Given the description of an element on the screen output the (x, y) to click on. 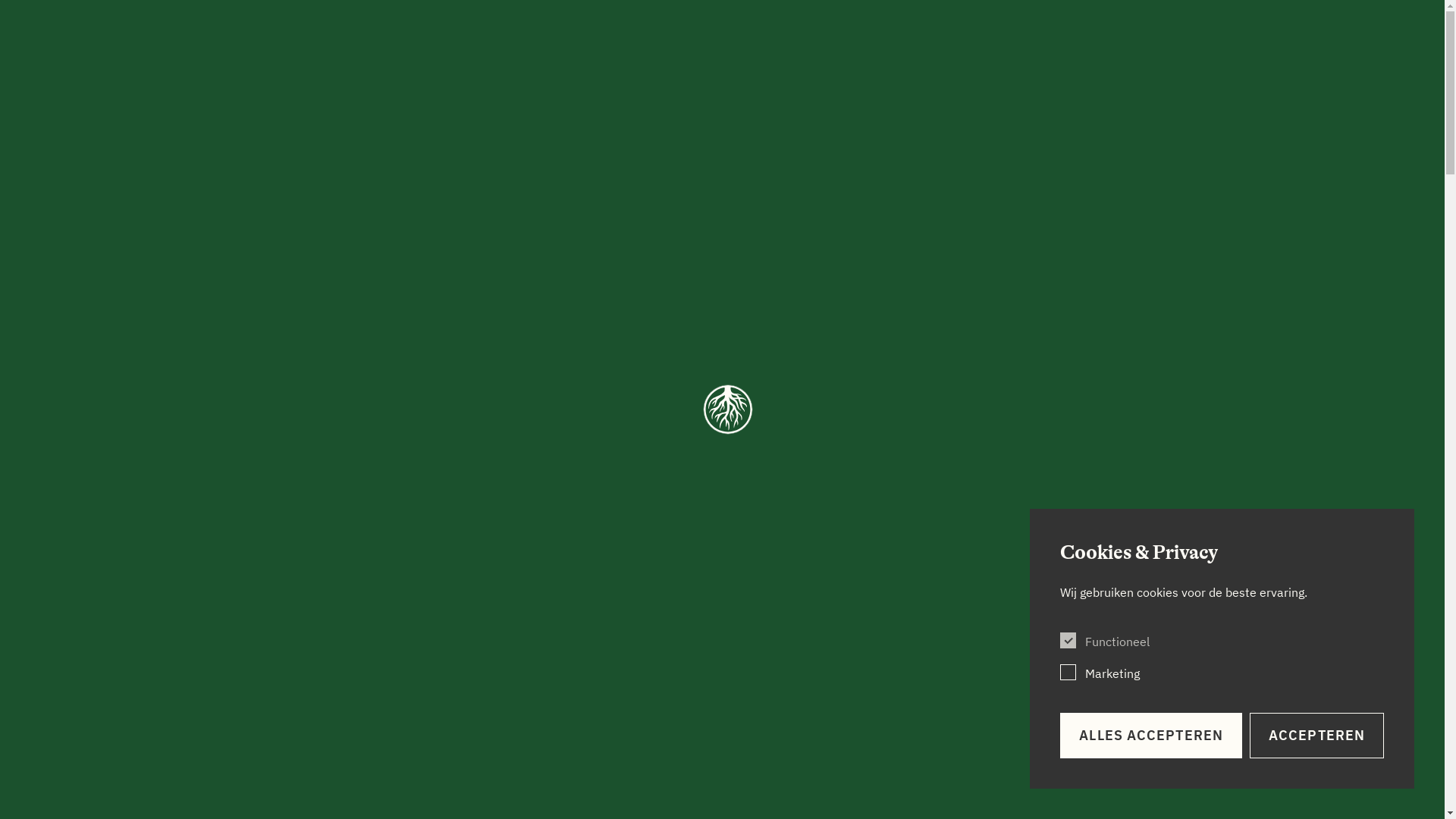
ALLES ACCEPTEREN Element type: text (1151, 735)
ACCEPTEREN Element type: text (1316, 735)
We are the Re-Generation Element type: text (722, 30)
